Given the description of an element on the screen output the (x, y) to click on. 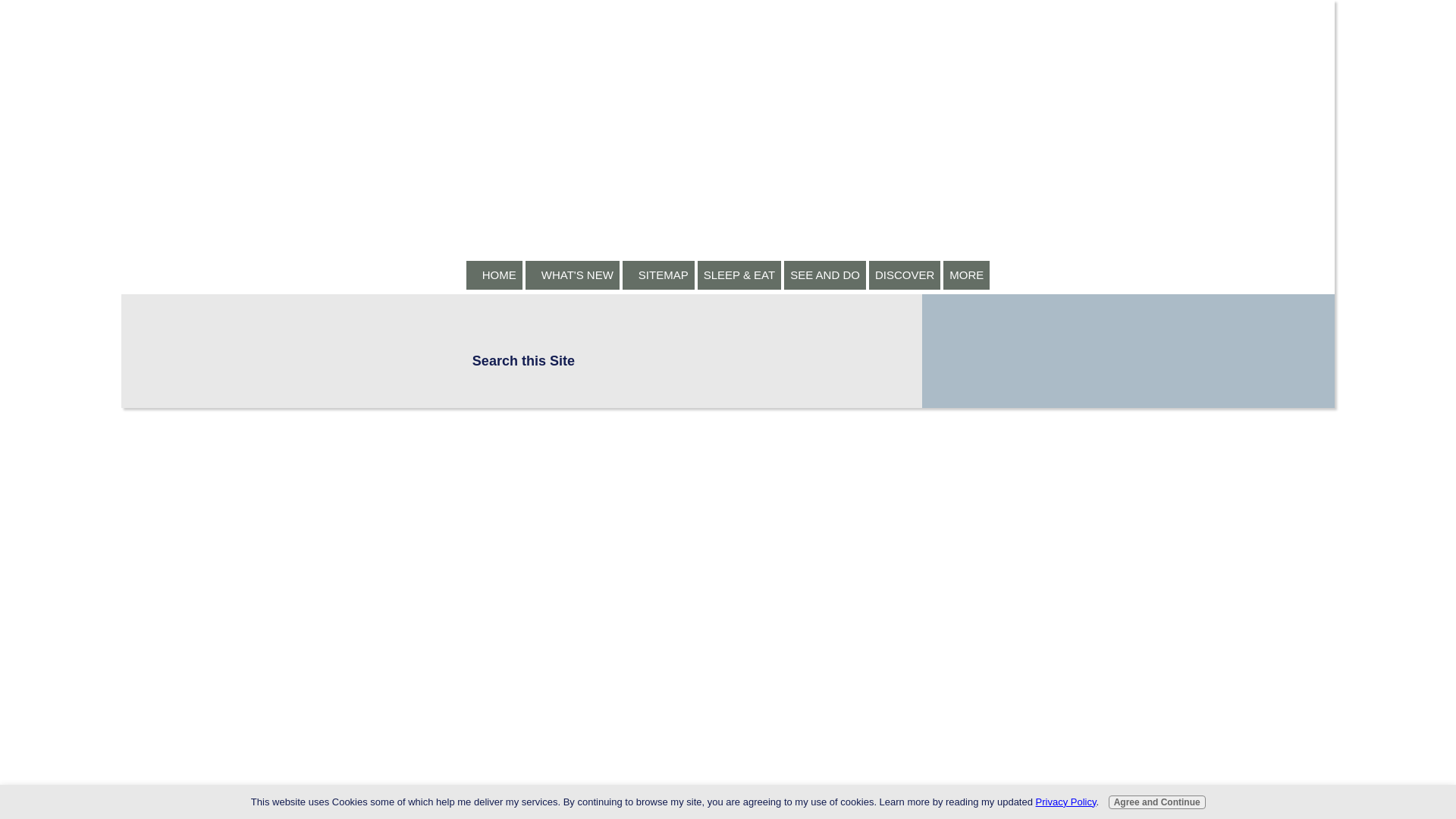
SITEMAP (658, 275)
WHAT'S NEW (572, 275)
HOME (493, 275)
